Given the description of an element on the screen output the (x, y) to click on. 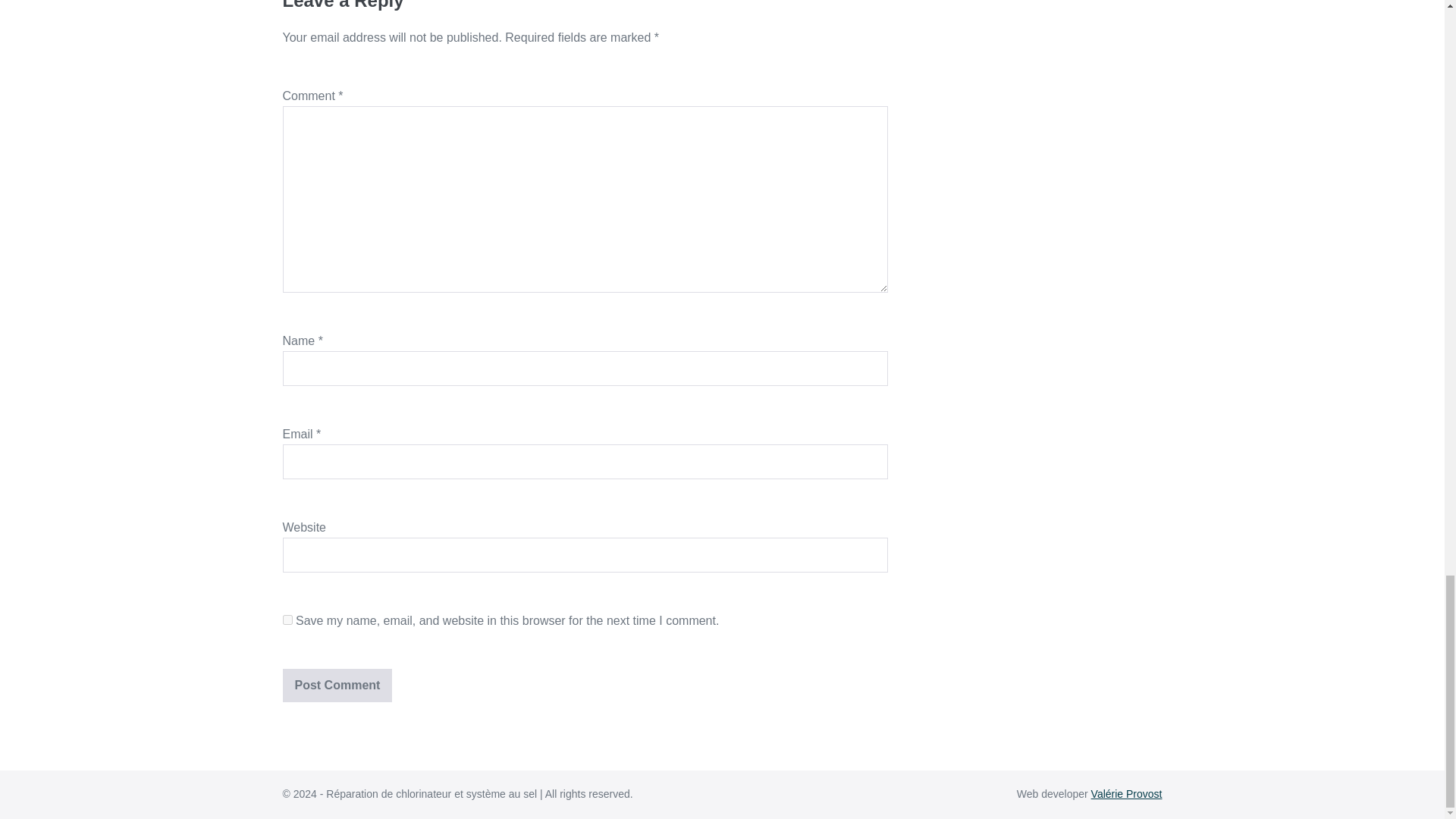
Post Comment (336, 685)
yes (287, 619)
Post Comment (336, 685)
